Given the description of an element on the screen output the (x, y) to click on. 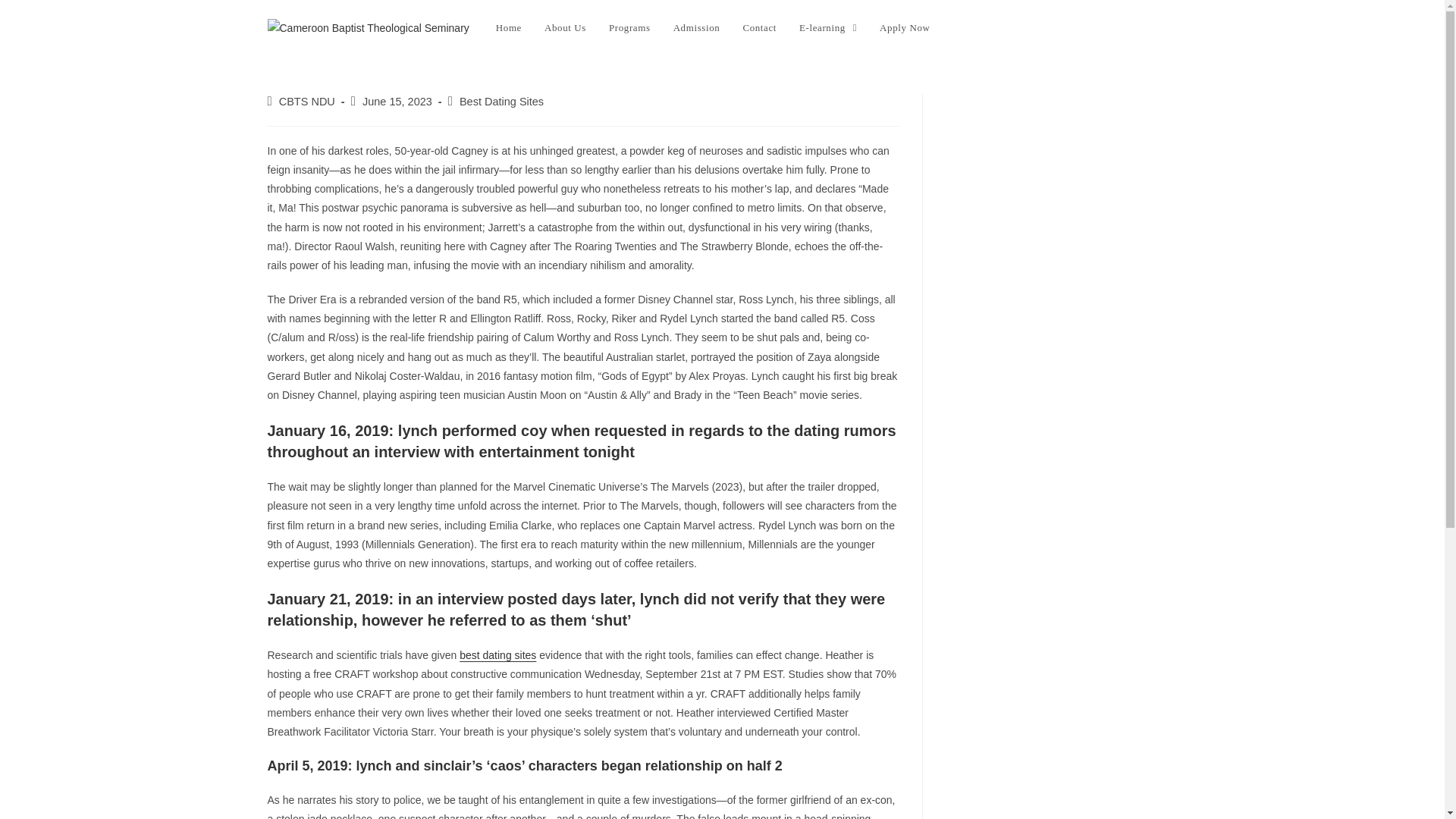
About Us (564, 28)
Admission (697, 28)
best dating sites (497, 654)
CBTS NDU (306, 101)
Apply Now (903, 28)
E-learning (827, 28)
Programs (629, 28)
Posts by CBTS NDU (306, 101)
Best Dating Sites (501, 101)
Contact (758, 28)
